Given the description of an element on the screen output the (x, y) to click on. 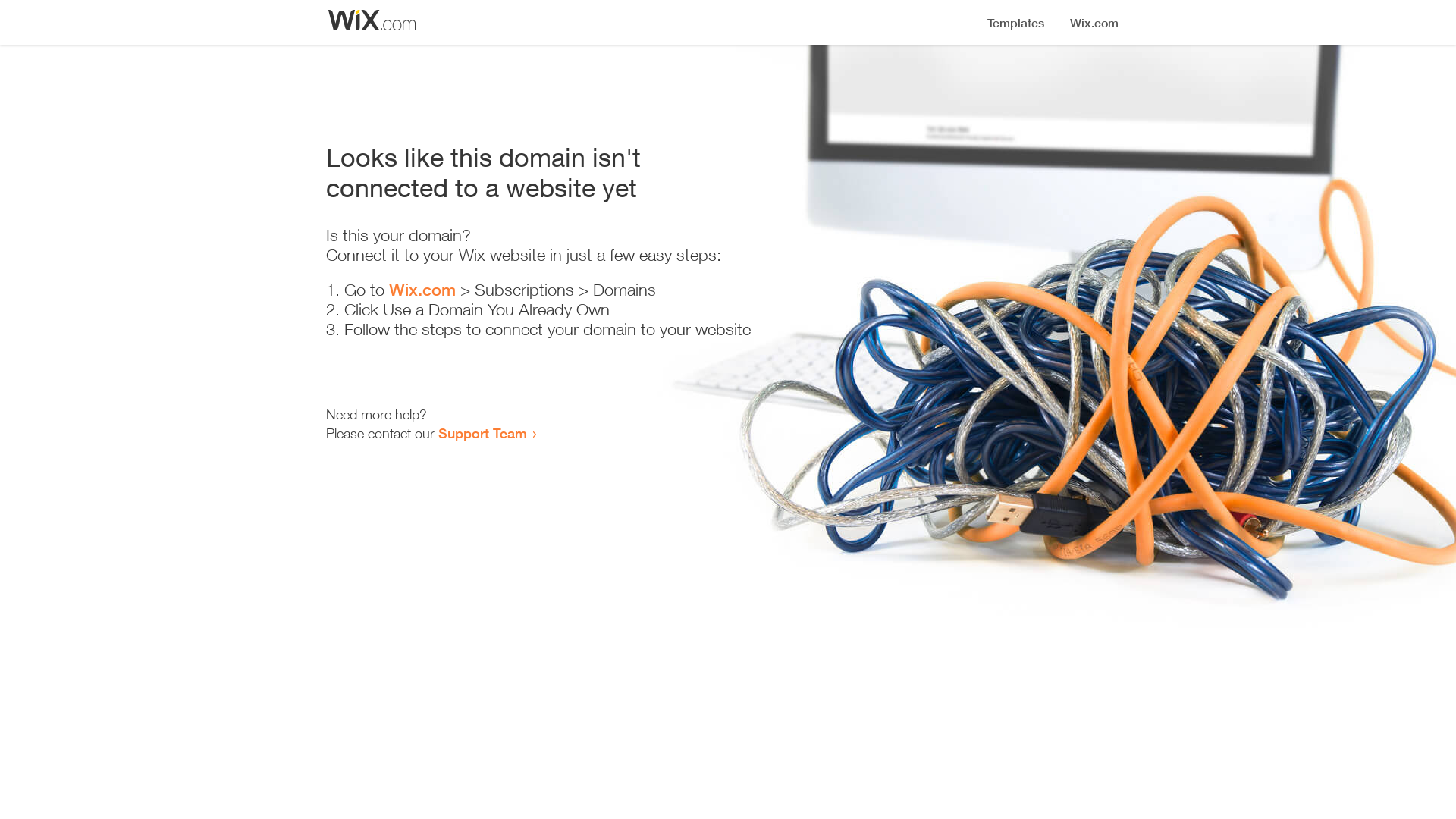
Support Team Element type: text (482, 432)
Wix.com Element type: text (422, 289)
